Given the description of an element on the screen output the (x, y) to click on. 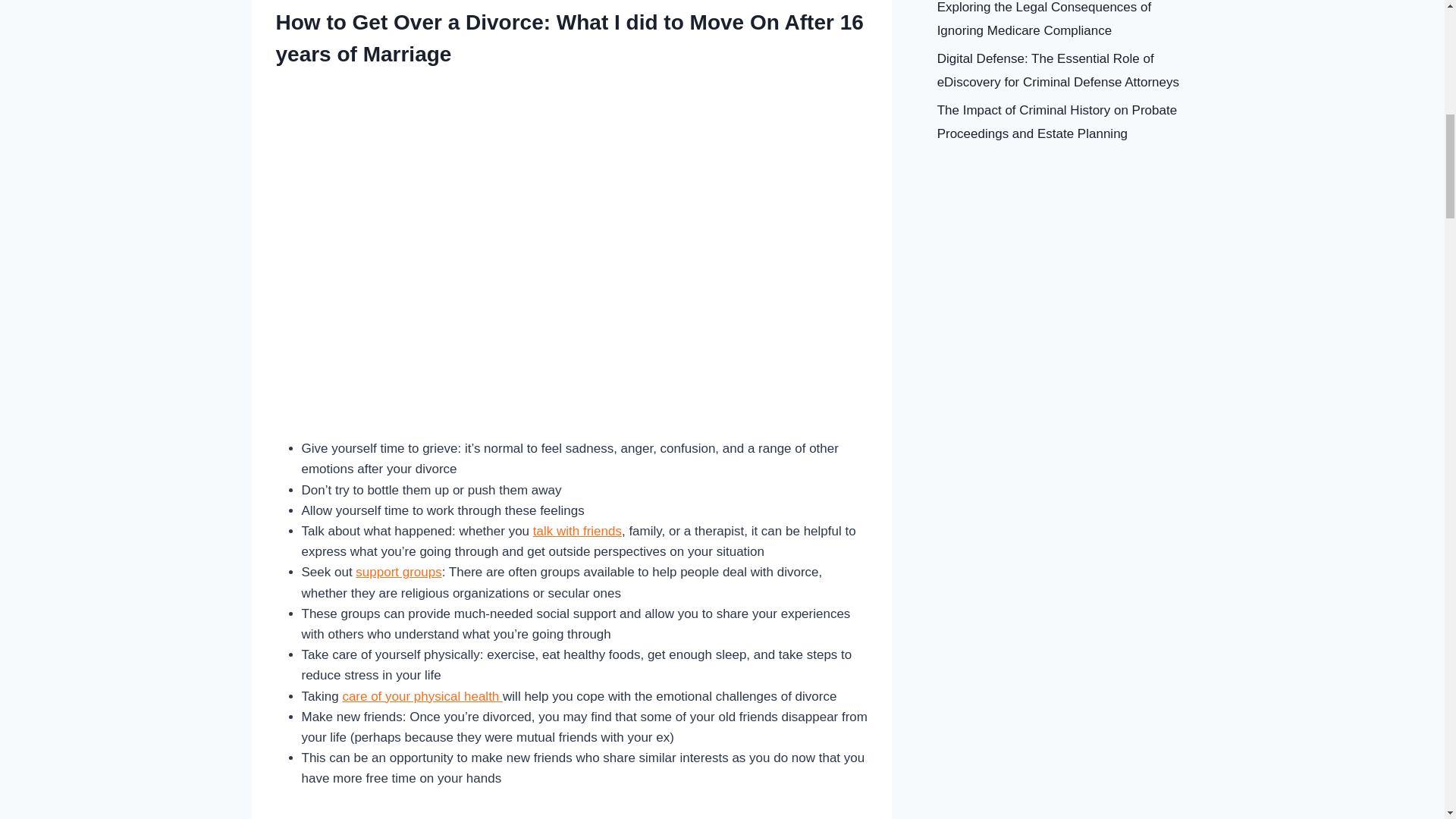
care of your physical health (422, 696)
support groups (398, 572)
talk with friends (576, 531)
